Given the description of an element on the screen output the (x, y) to click on. 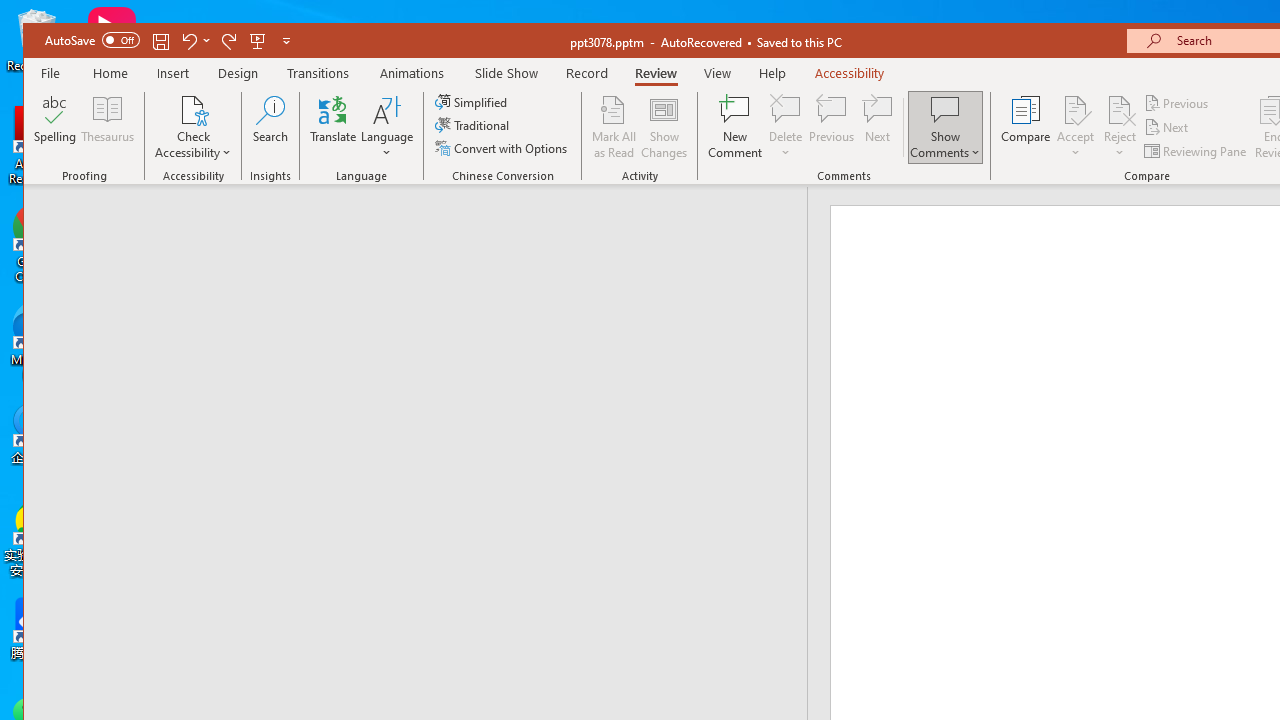
Traditional (473, 124)
Next (1167, 126)
Previous (1177, 103)
Thesaurus... (107, 127)
Show Changes (663, 127)
Translate (333, 127)
Accept (1075, 127)
Check Accessibility (193, 109)
